Given the description of an element on the screen output the (x, y) to click on. 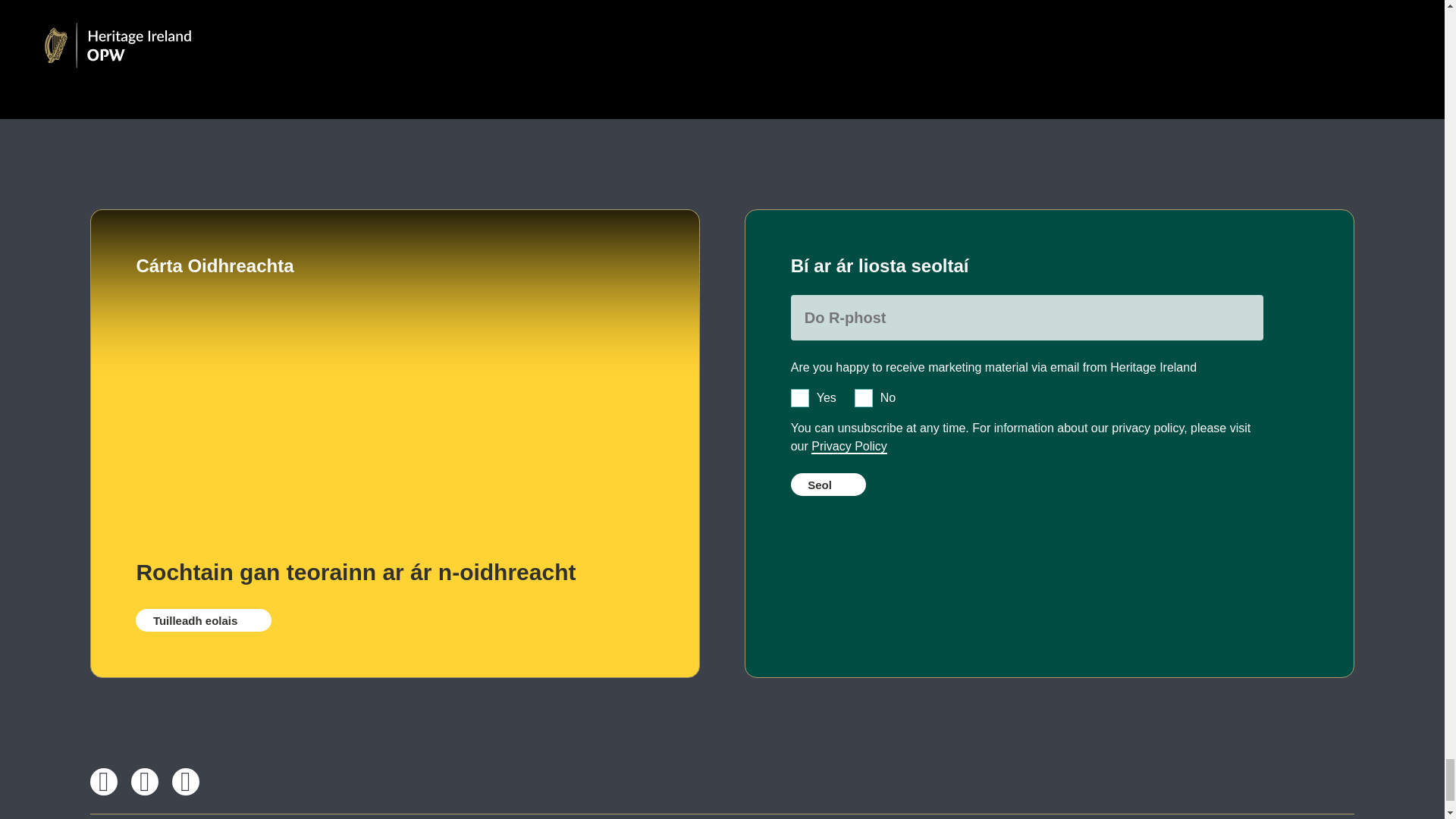
Tuilleadh eolais (202, 620)
Privacy Policy (848, 446)
Seol (828, 484)
